Given the description of an element on the screen output the (x, y) to click on. 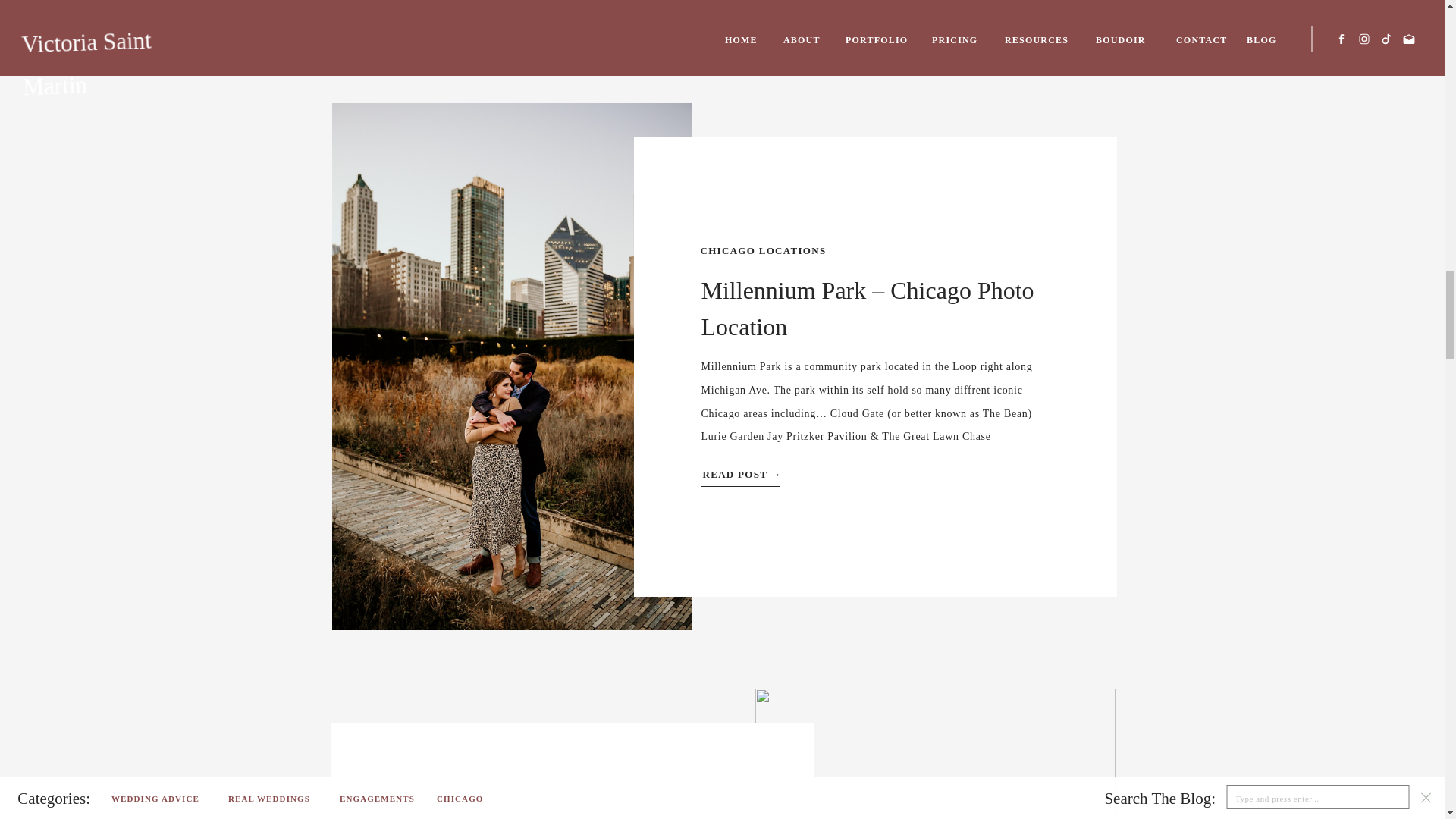
CHICAGO LOCATIONS (763, 250)
Winter Engagement Photos in Chicago (935, 753)
